Given the description of an element on the screen output the (x, y) to click on. 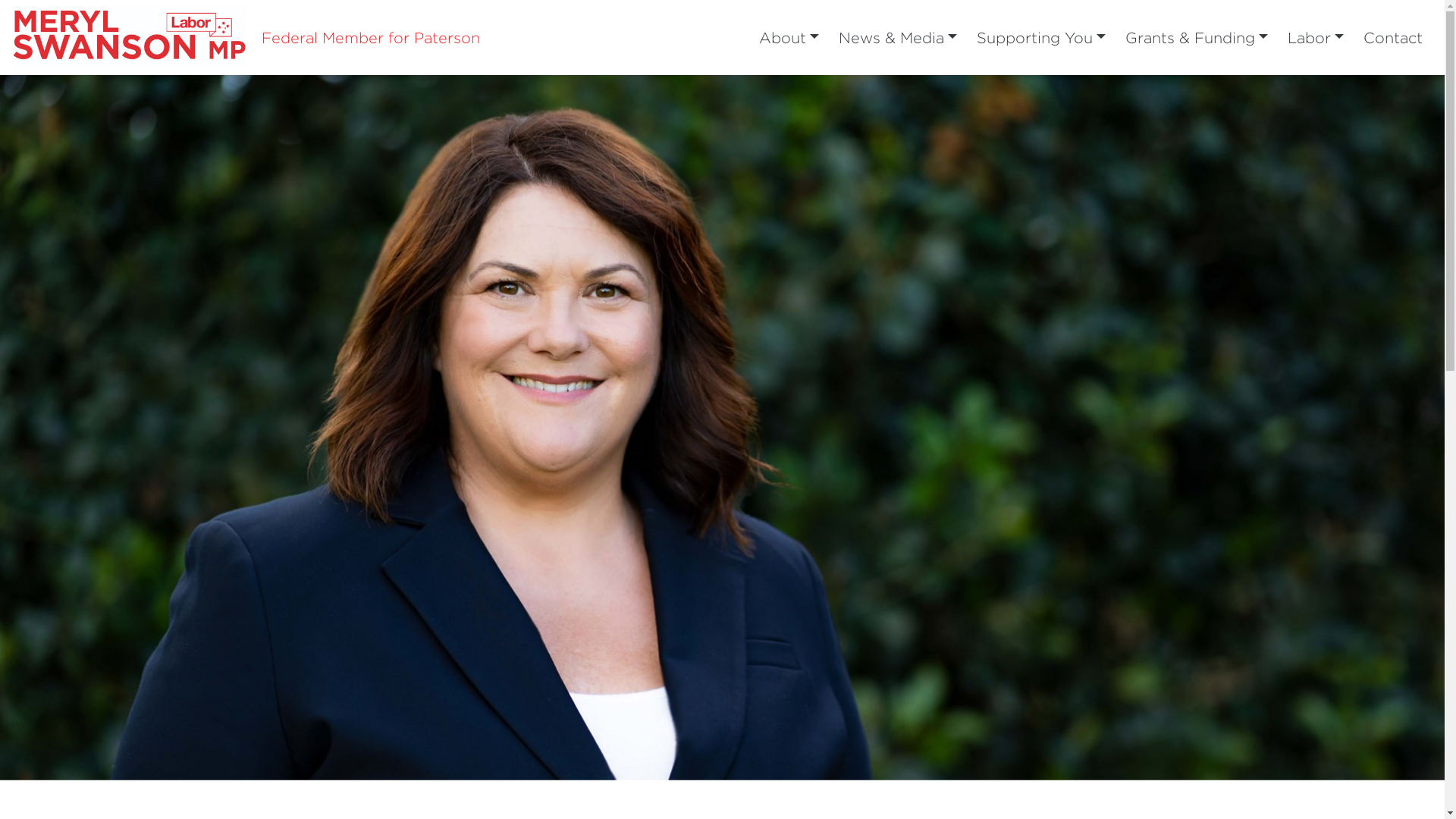
News & Media Element type: text (897, 37)
Next Element type: text (1335, 427)
Previous Element type: text (108, 427)
Grants & Funding Element type: text (1196, 37)
Contact Element type: text (1392, 37)
Supporting You Element type: text (1040, 37)
Labor Element type: text (1315, 37)
About Element type: text (788, 37)
